Given the description of an element on the screen output the (x, y) to click on. 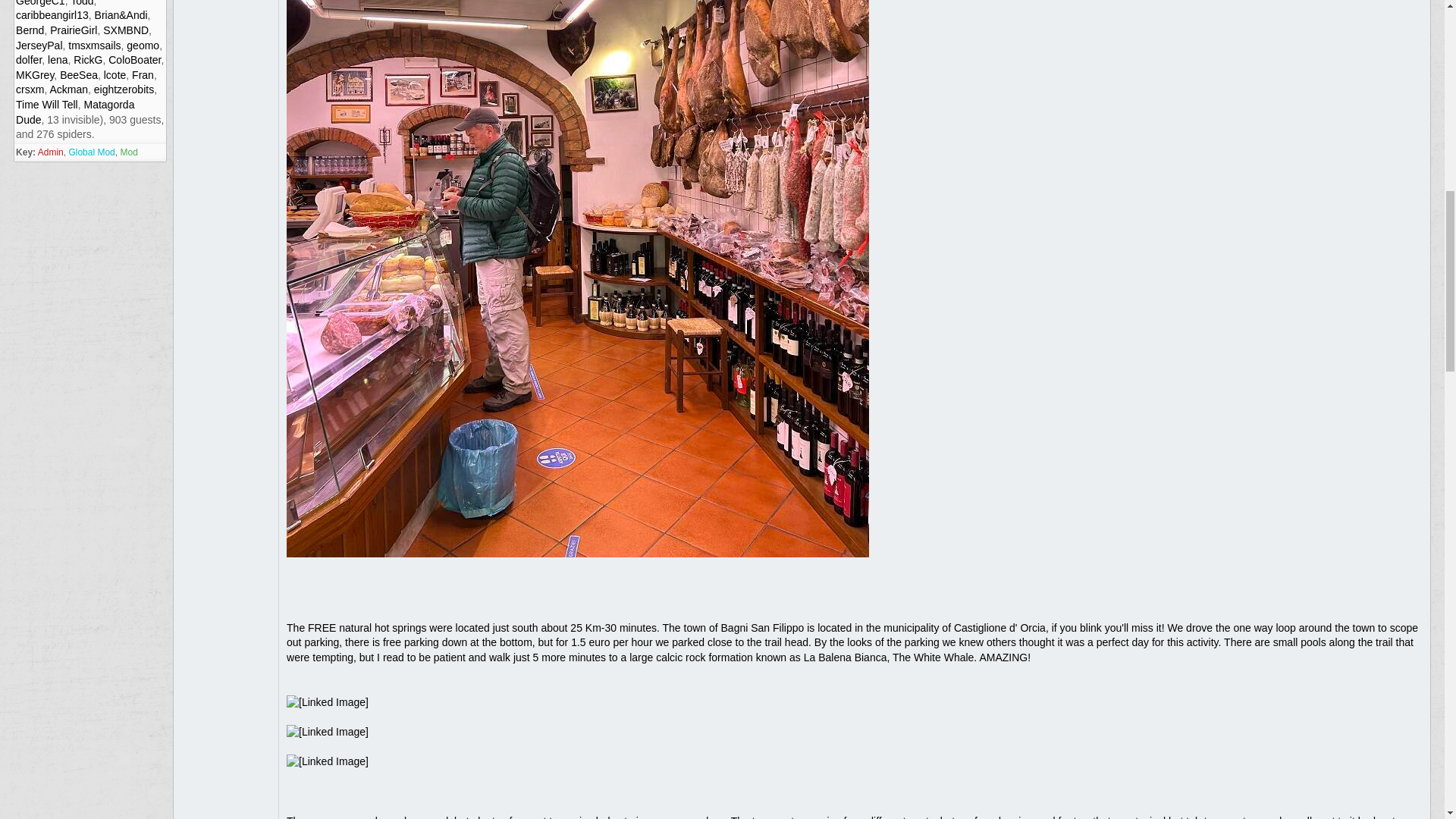
User was last active . (87, 60)
User was last active . (78, 74)
User was last active . (81, 3)
User was last active . (73, 30)
User was last active . (121, 15)
User was last active . (142, 45)
User was last active . (52, 15)
GeorgeC1 (40, 3)
User was last active . (29, 30)
User was last active . (34, 74)
